Given the description of an element on the screen output the (x, y) to click on. 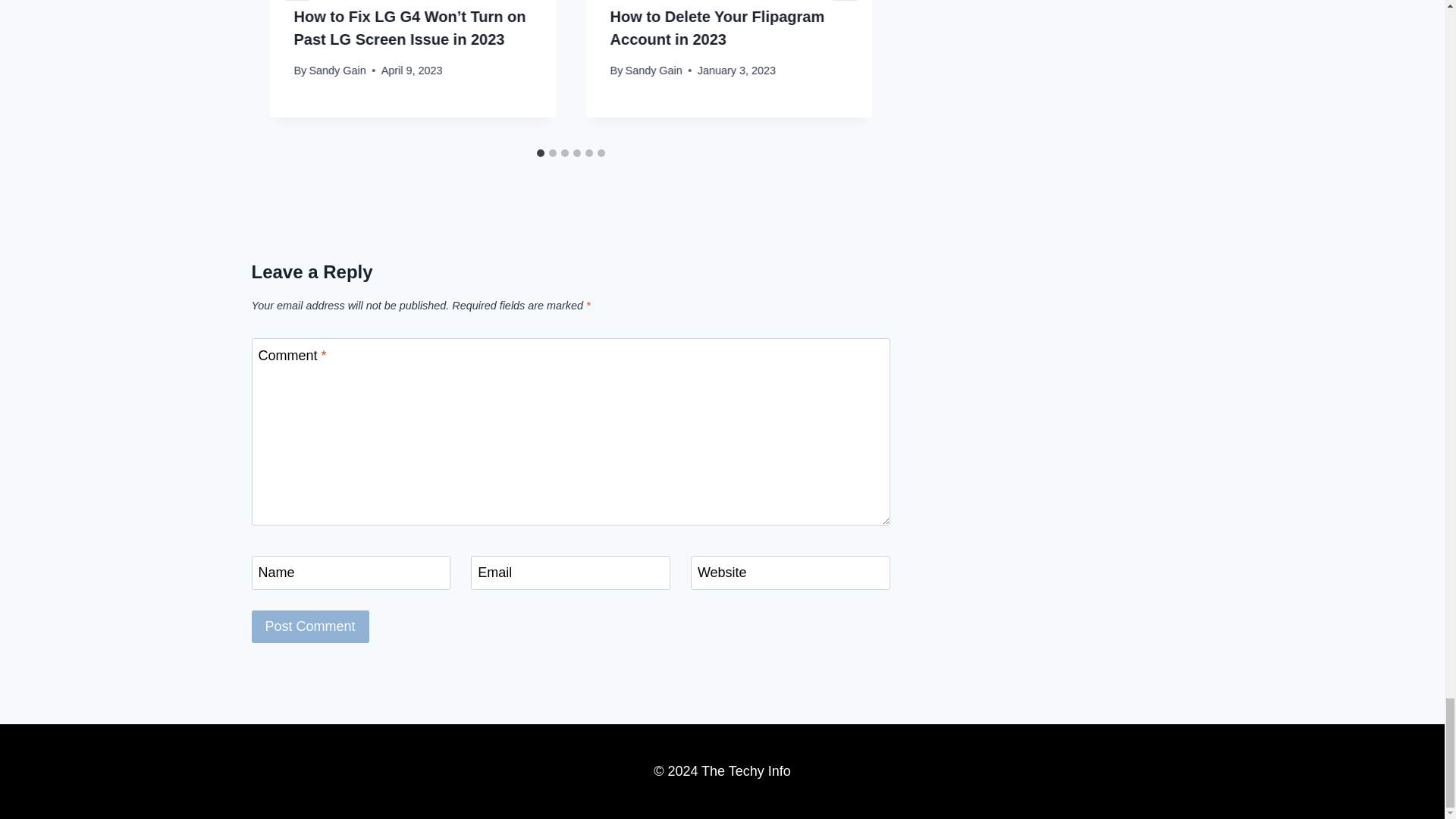
Post Comment (310, 626)
